Given the description of an element on the screen output the (x, y) to click on. 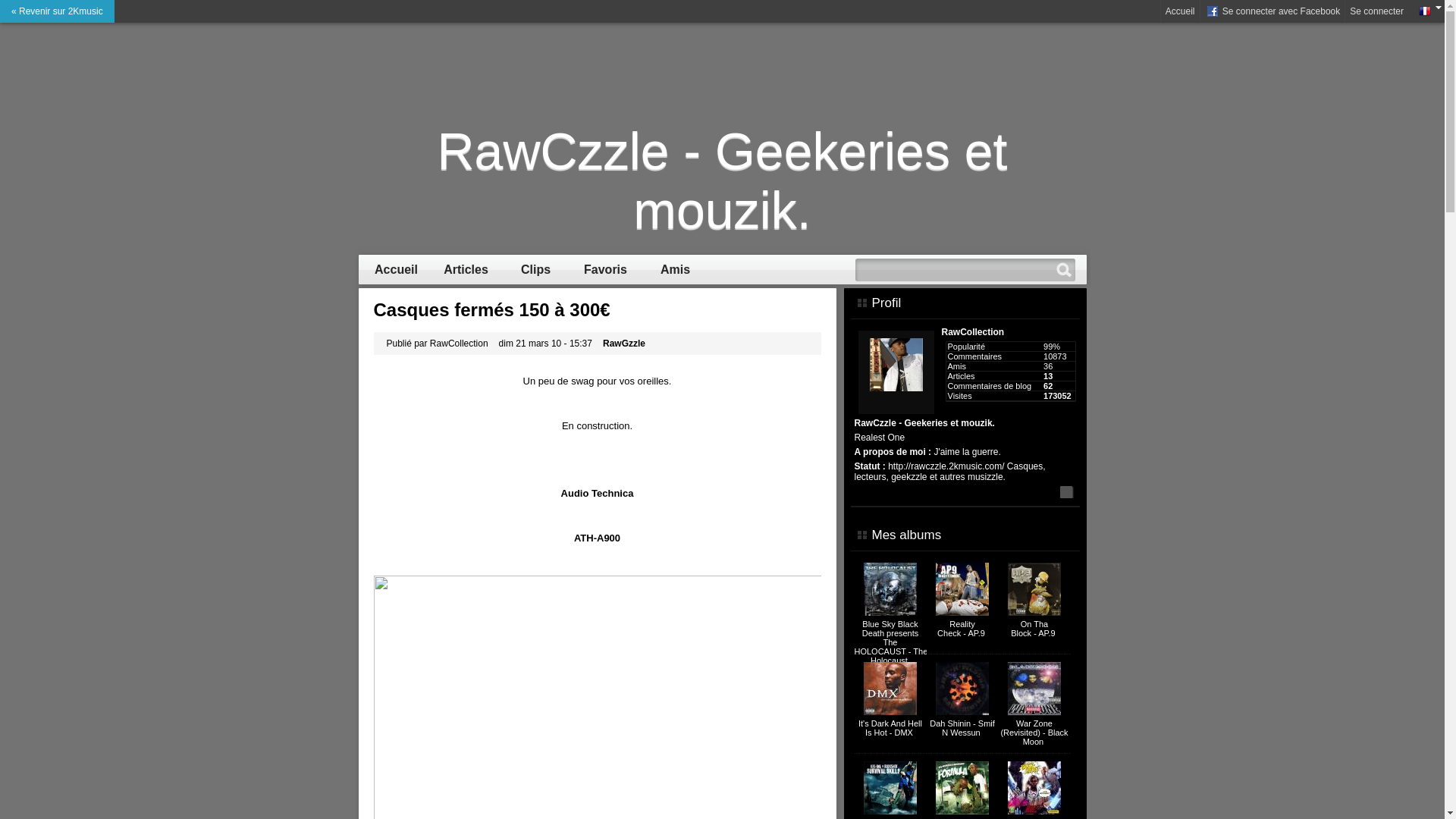
RawGzzle Element type: text (623, 343)
Dah Shinin - Smif N Wessun  Element type: text (961, 727)
On Tha Block - AP.9  Element type: text (1033, 628)
Blue Sky Black Death presents The HOLOCAUST - The Holocaust  Element type: text (890, 642)
It's Dark And Hell Is Hot - DMX  Element type: text (890, 727)
 Se connecter avec Facebook Element type: text (1272, 11)
Accueil Element type: text (1180, 11)
Se connecter Element type: text (1376, 11)
Accueil Element type: text (396, 269)
War Zone (Revisited) - Black Moon  Element type: text (1033, 732)
RawCzzle - Geekeries et mouzik. Element type: text (722, 180)
Amis Element type: text (675, 269)
Clips Element type: text (536, 269)
Articles Element type: text (466, 269)
Favoris Element type: text (605, 269)
Reality Check - AP.9  Element type: text (962, 628)
